Given the description of an element on the screen output the (x, y) to click on. 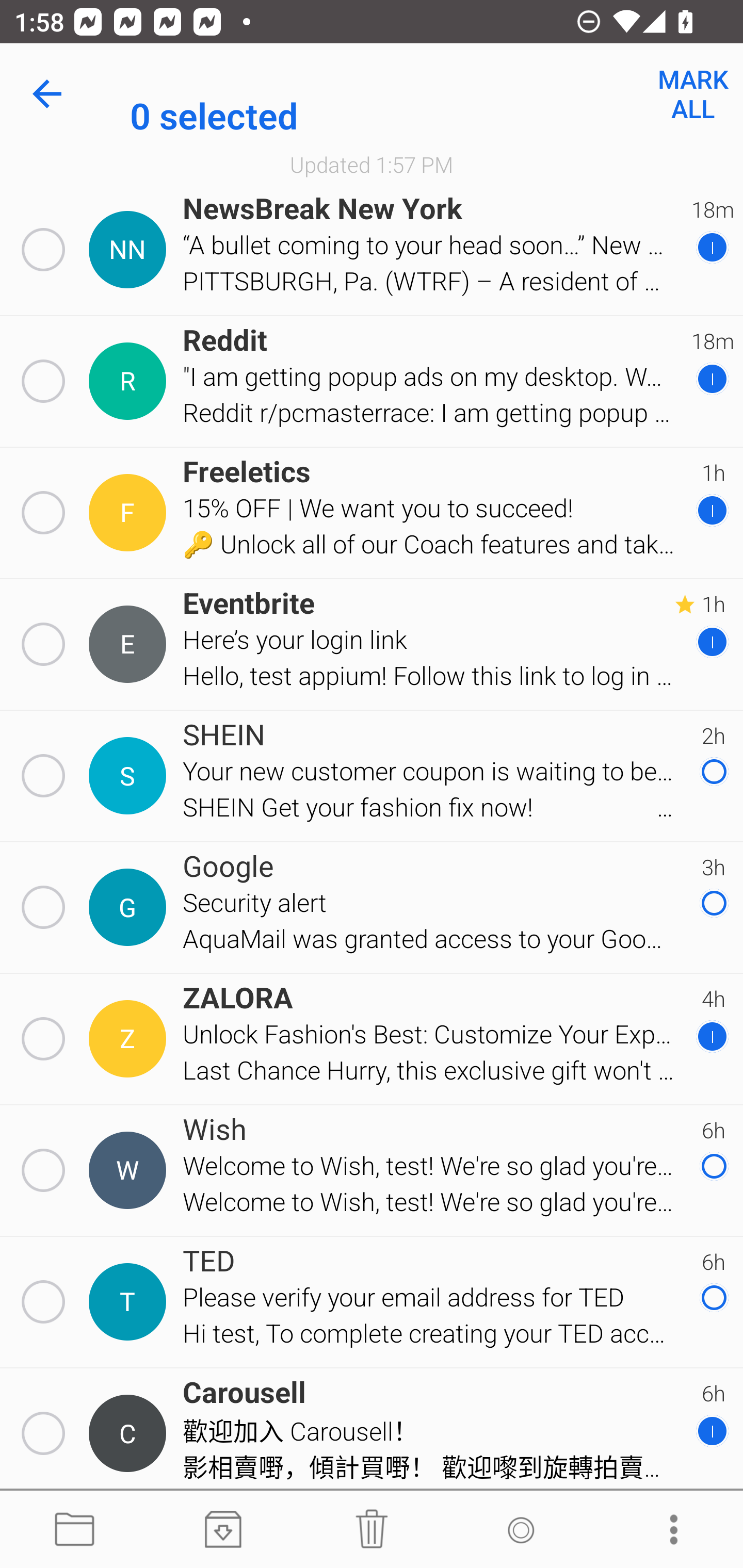
Done (50, 93)
MARK
ALL (692, 93)
Updated 1:57 PM (371, 164)
Contact Details (129, 250)
Contact Details (129, 381)
Contact Details (129, 513)
Contact Details (129, 644)
Contact Details (129, 776)
Contact Details (129, 907)
Contact Details (129, 1038)
Contact Details (129, 1170)
Contact Details (129, 1302)
Contact Details (129, 1433)
Move (74, 1529)
Archive (222, 1529)
Delete (371, 1529)
Mark as Read (520, 1529)
More Options (668, 1529)
